Given the description of an element on the screen output the (x, y) to click on. 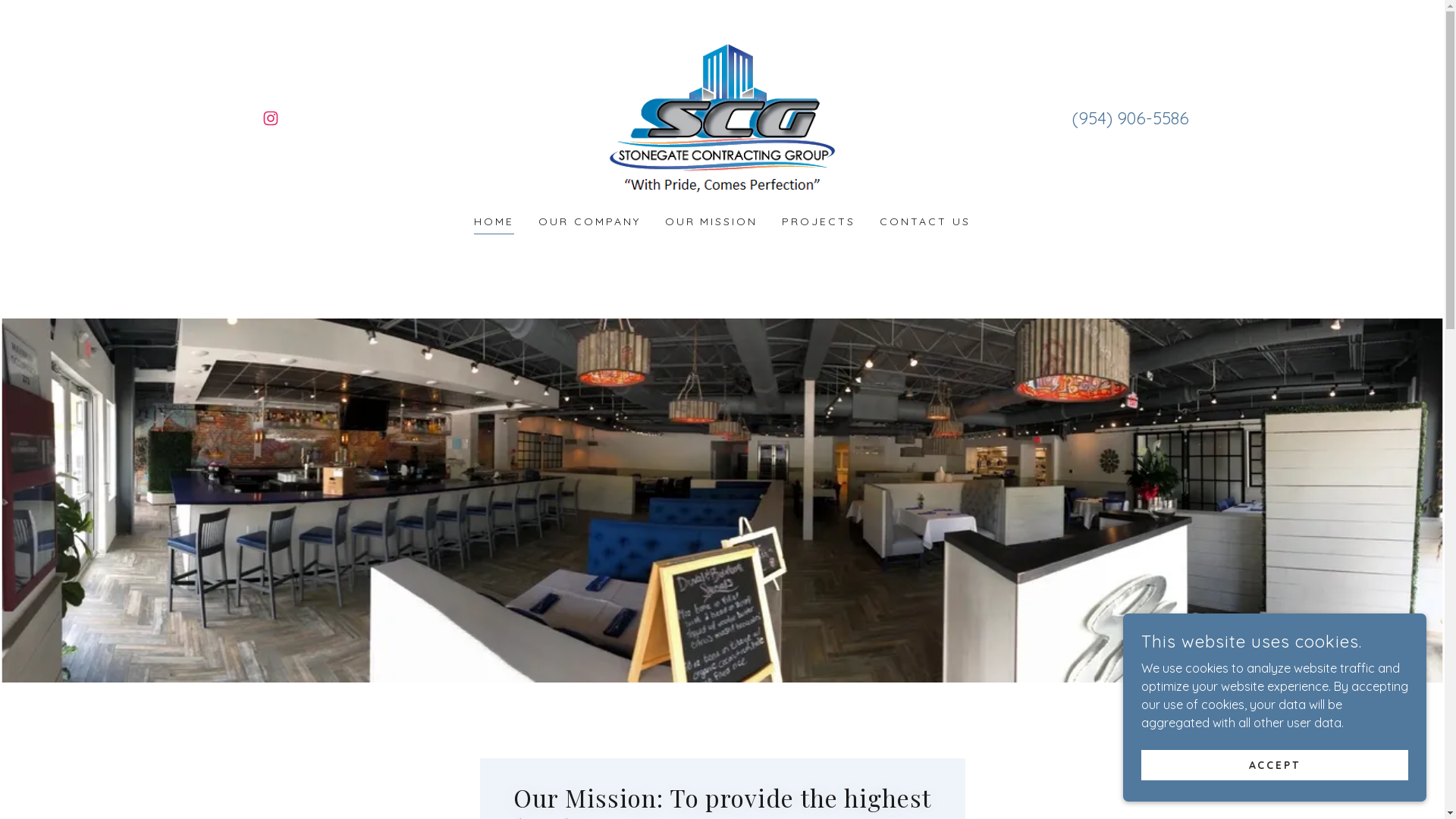
ACCEPT Element type: text (1274, 764)
OUR COMPANY Element type: text (589, 221)
PROJECTS Element type: text (818, 221)
CONTACT US Element type: text (925, 221)
Stonegate Contracting Group Element type: hover (721, 116)
HOME Element type: text (493, 223)
OUR MISSION Element type: text (711, 221)
(954) 906-5586 Element type: text (1130, 117)
